Given the description of an element on the screen output the (x, y) to click on. 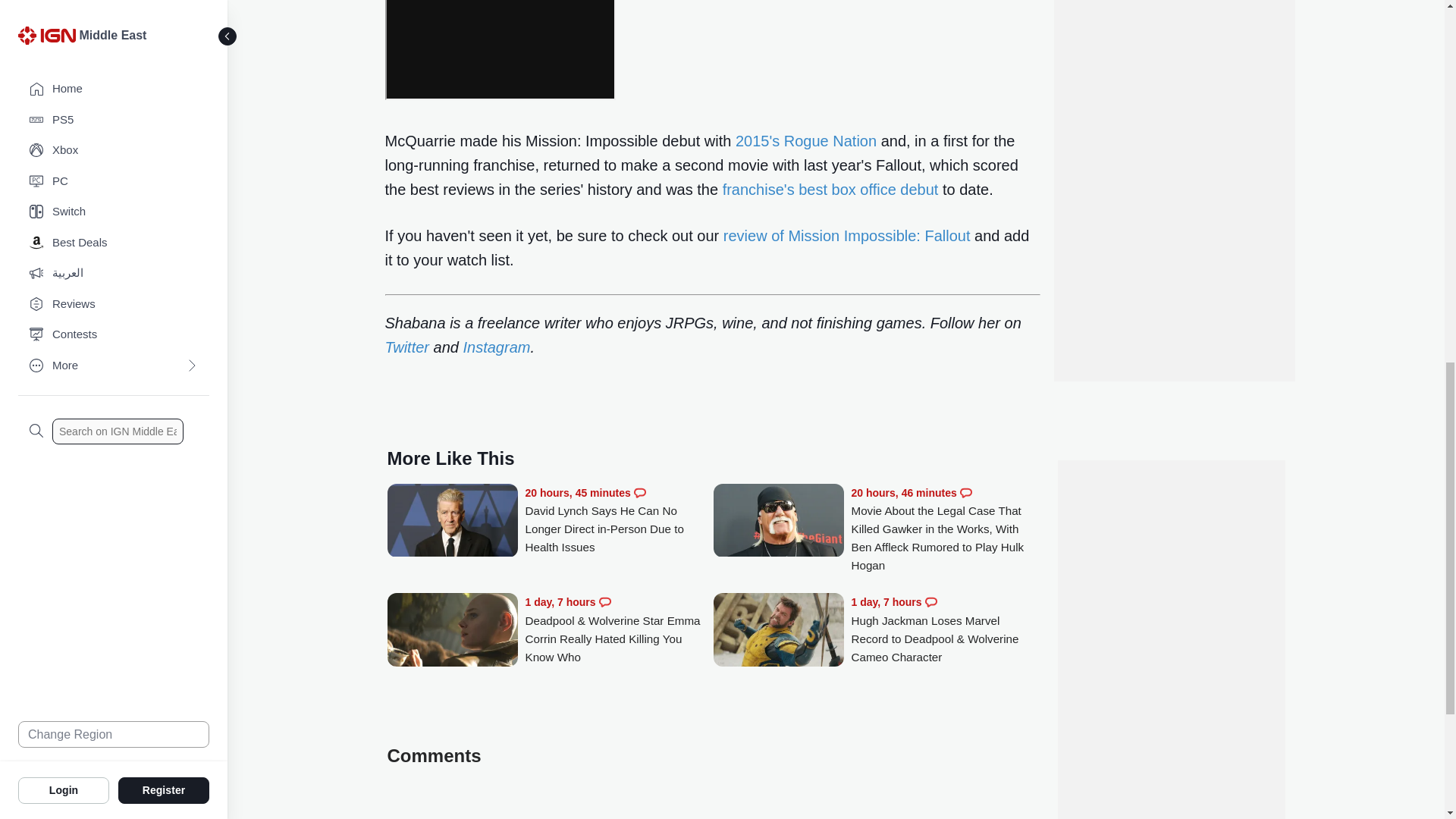
Comments (965, 492)
Comments (639, 492)
Comments (604, 602)
Instagram (496, 347)
Comments (930, 602)
